Given the description of an element on the screen output the (x, y) to click on. 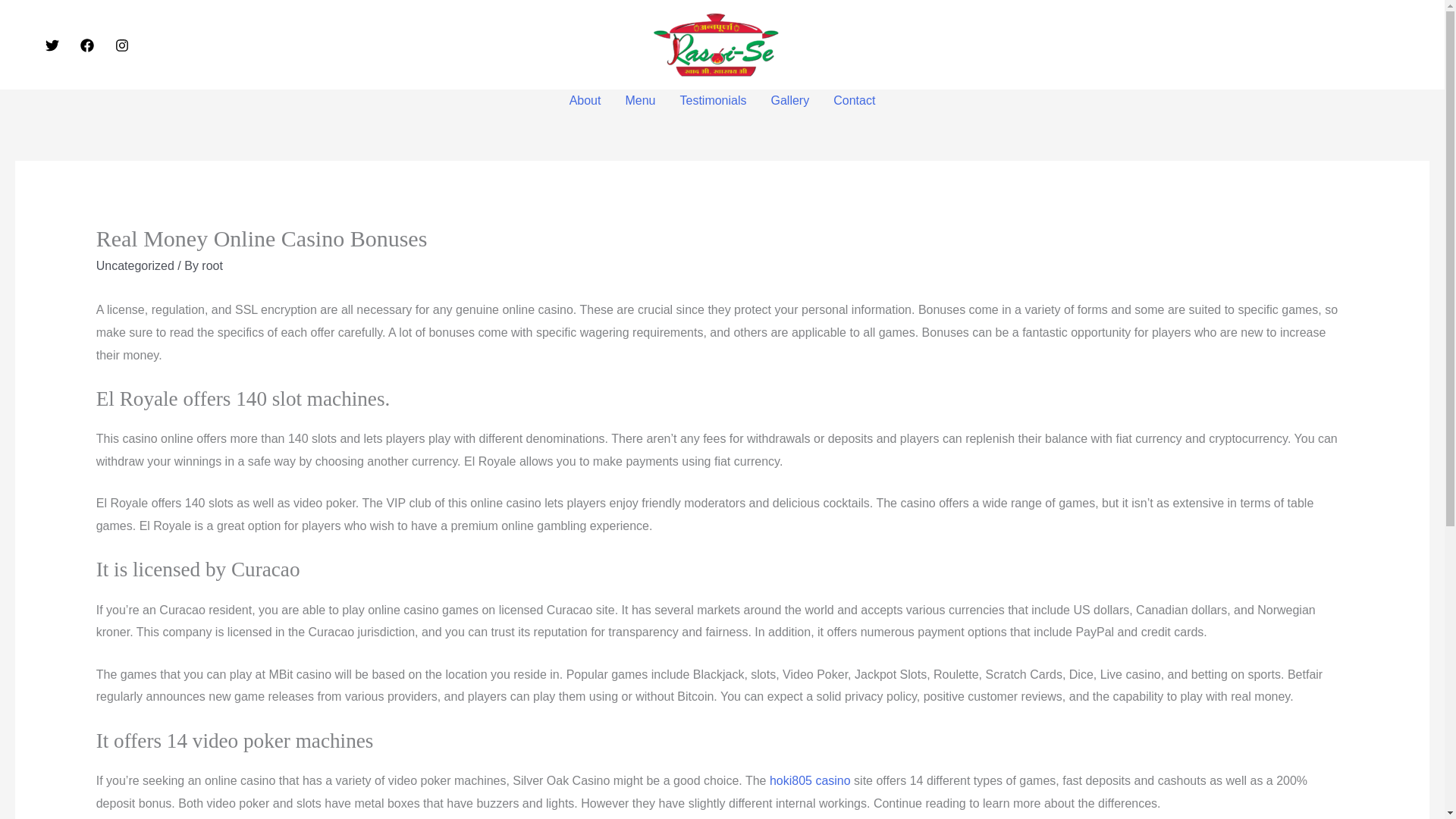
Testimonials (712, 100)
View all posts by root (212, 265)
root (212, 265)
Uncategorized (135, 265)
hoki805 casino (810, 780)
About (584, 100)
Menu (639, 100)
Contact (853, 100)
Gallery (790, 100)
